Given the description of an element on the screen output the (x, y) to click on. 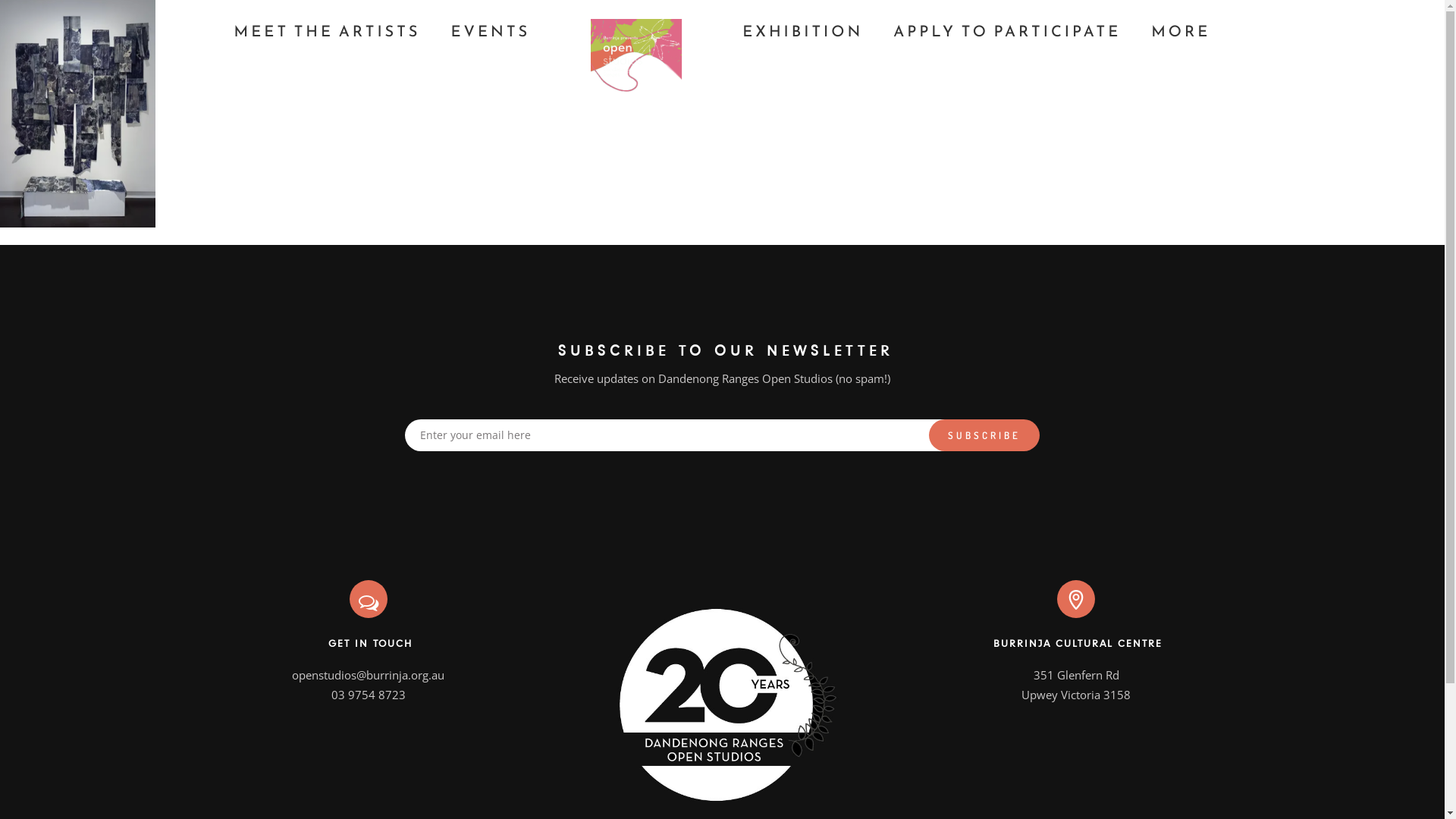
MEET THE ARTISTS Element type: text (327, 29)
EVENTS Element type: text (490, 29)
EXHIBITION Element type: text (802, 29)
APPLY TO PARTICIPATE Element type: text (1006, 29)
MORE Element type: text (1180, 29)
Subscribe Element type: text (983, 435)
